Given the description of an element on the screen output the (x, y) to click on. 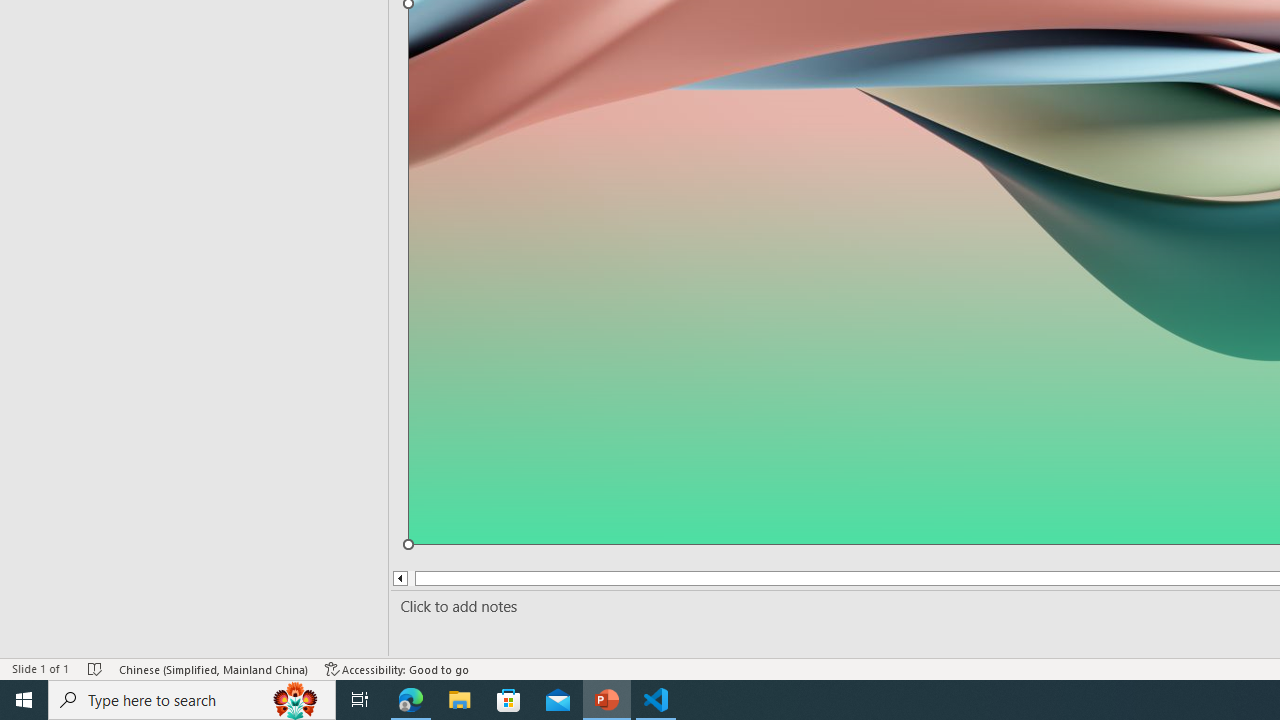
Accessibility Checker Accessibility: Good to go (397, 668)
